Given the description of an element on the screen output the (x, y) to click on. 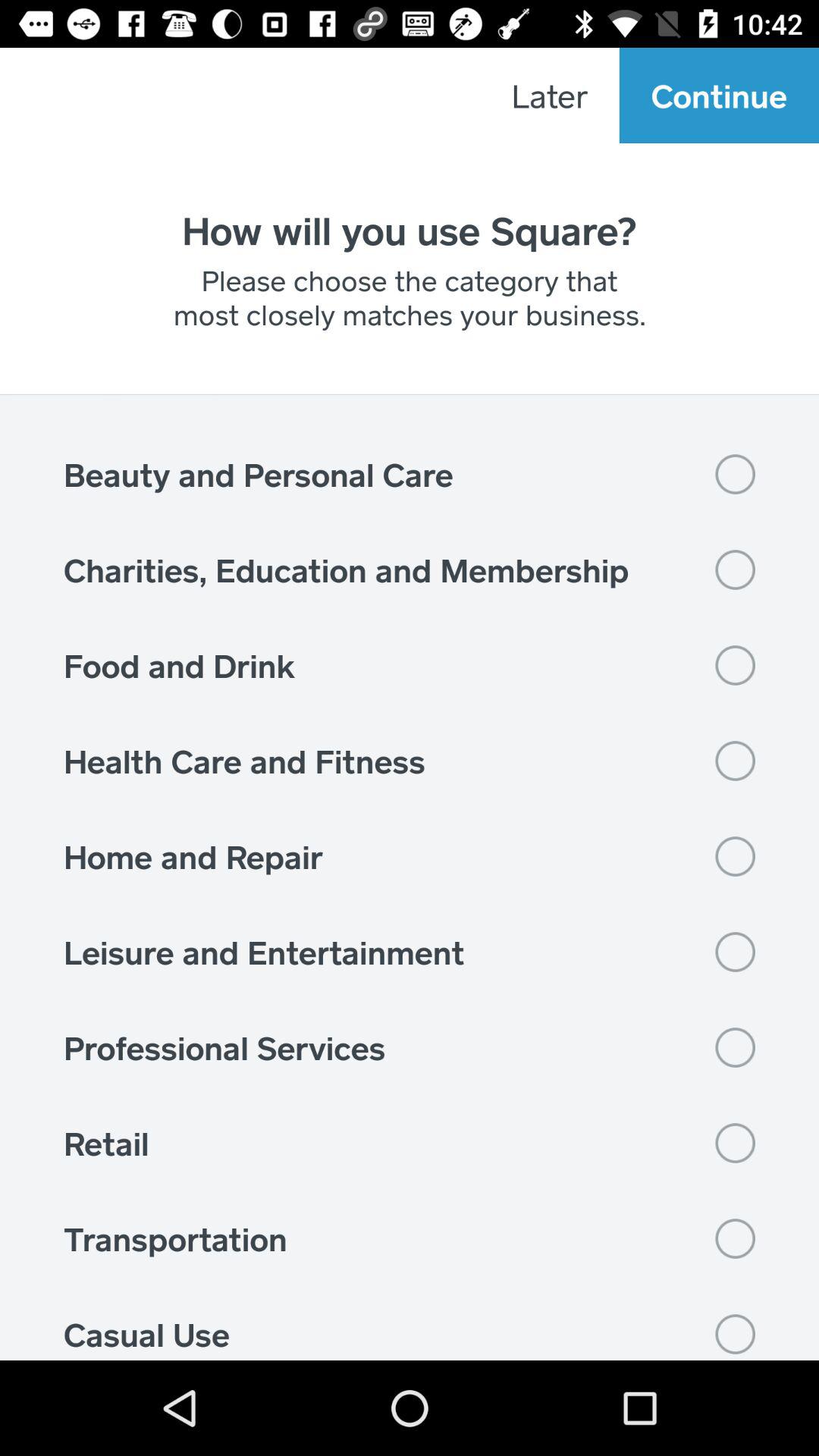
choose later item (549, 95)
